Given the description of an element on the screen output the (x, y) to click on. 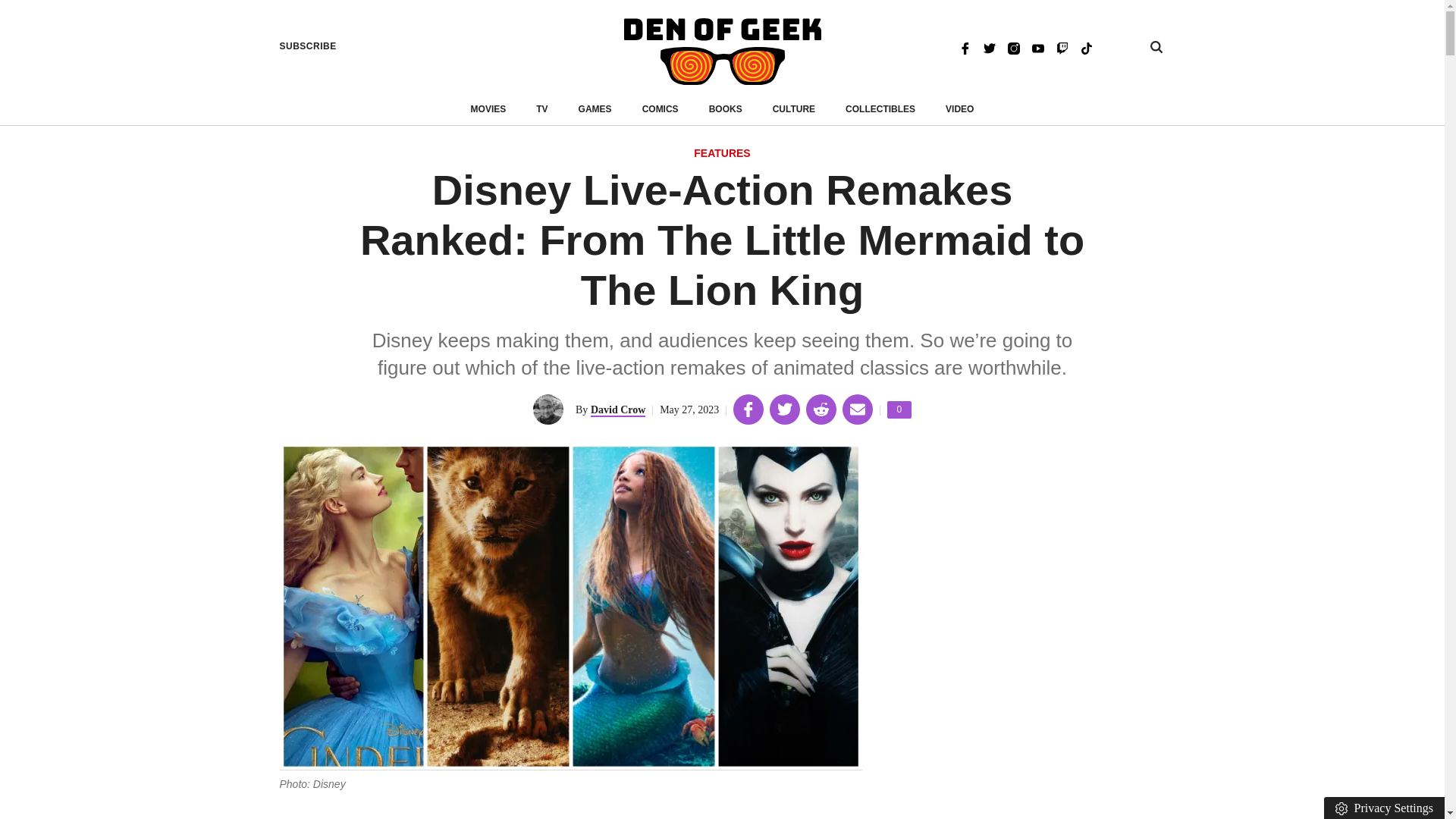
Twitch (1061, 46)
MOVIES (488, 109)
VIDEO (898, 409)
GAMES (959, 109)
Twitter (594, 109)
SUBSCRIBE (988, 46)
COLLECTIBLES (307, 46)
BOOKS (880, 109)
Den of Geek (725, 109)
Instagram (722, 52)
TikTok (1013, 46)
CULTURE (1085, 46)
FEATURES (794, 109)
COMICS (721, 153)
